Given the description of an element on the screen output the (x, y) to click on. 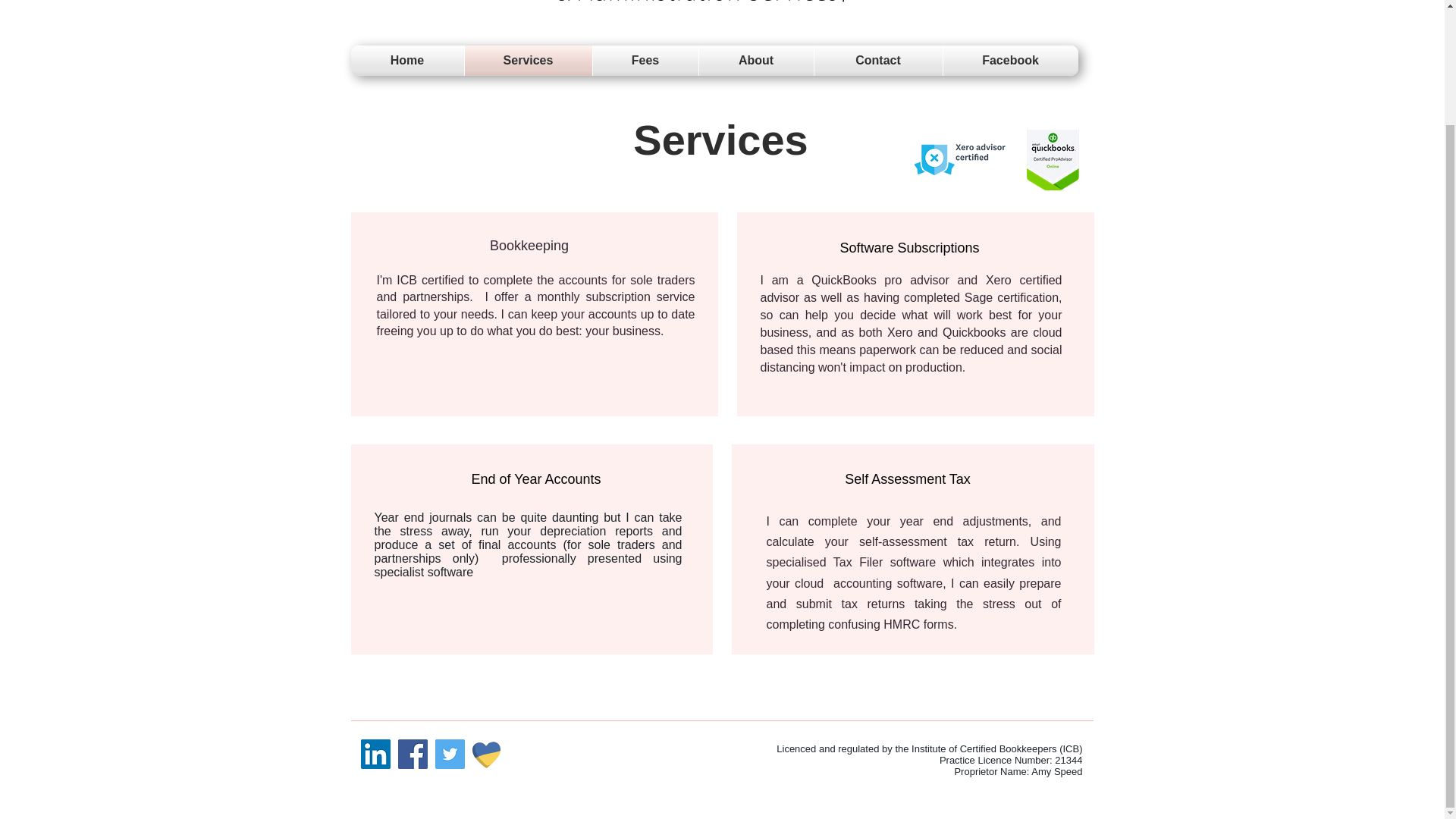
About (755, 60)
Contact (877, 60)
Facebook (1010, 60)
Services (527, 60)
Fees (645, 60)
Home (406, 60)
